Given the description of an element on the screen output the (x, y) to click on. 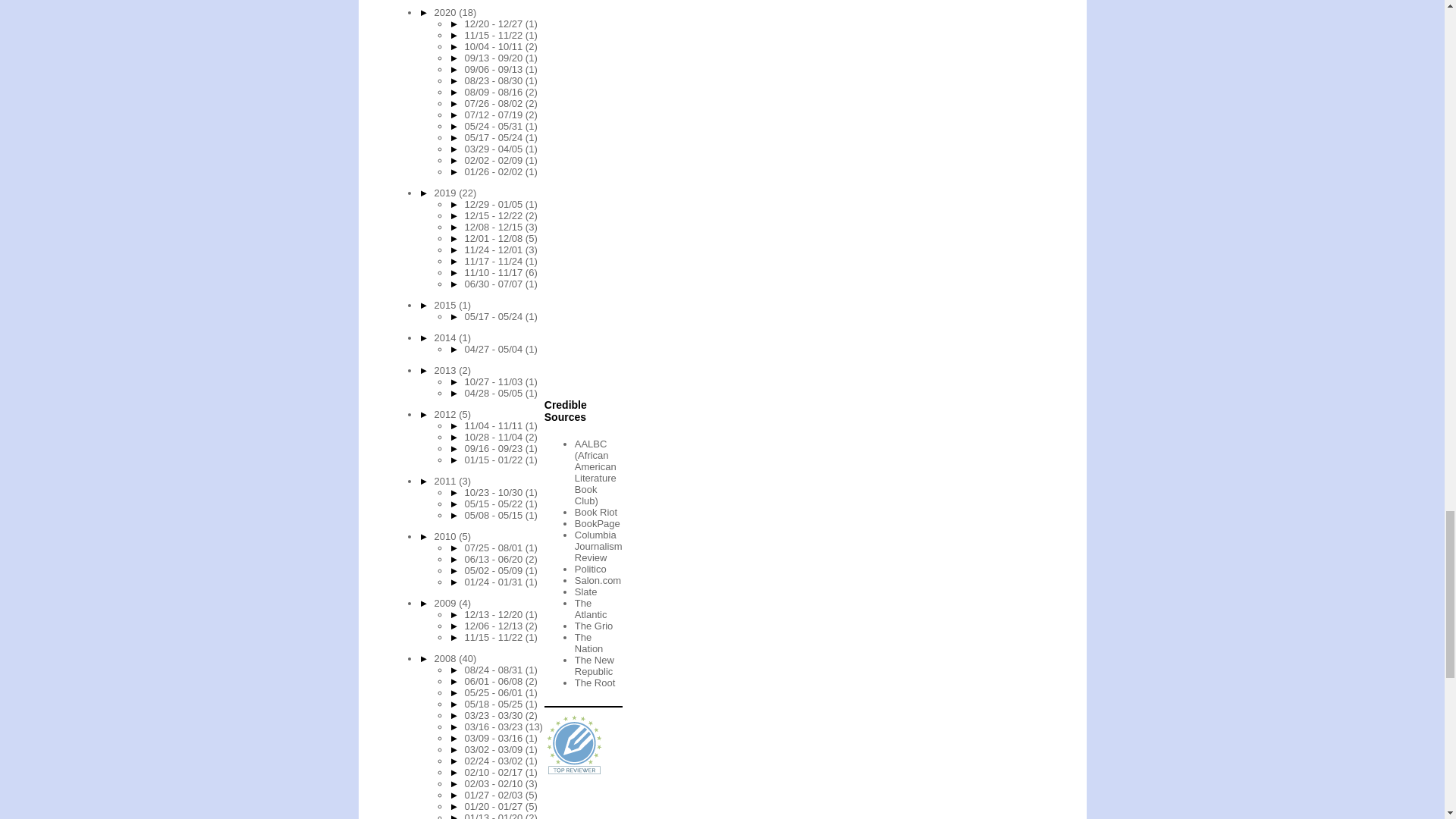
Reviews Published (574, 744)
